Given the description of an element on the screen output the (x, y) to click on. 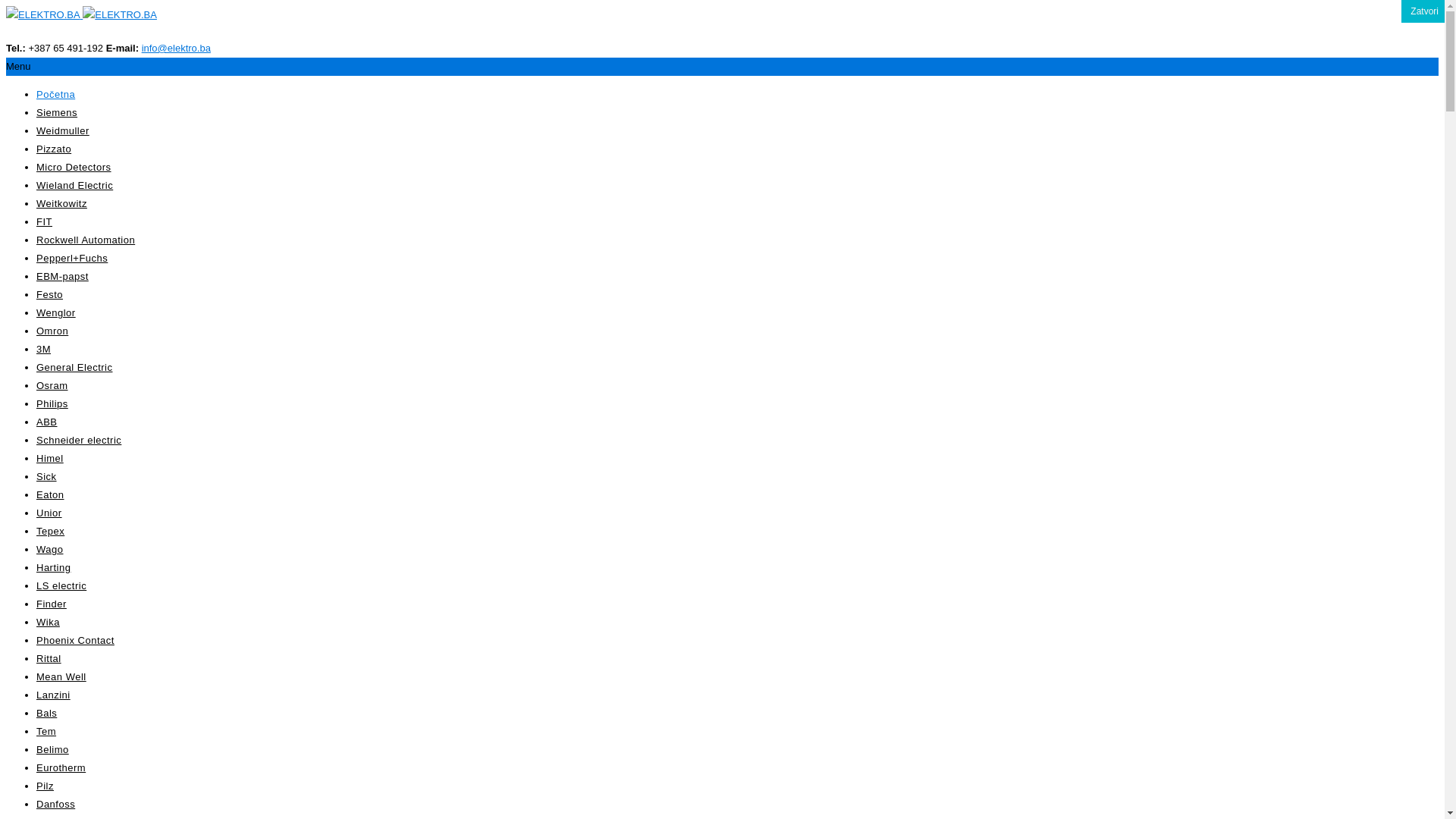
Belimo Element type: text (52, 749)
info@elektro.ba Element type: text (175, 47)
Lanzini Element type: text (53, 694)
Wieland Electric Element type: text (74, 185)
Omron Element type: text (52, 330)
Festo Element type: text (49, 294)
Schneider electric Element type: text (78, 439)
Pepperl+Fuchs Element type: text (71, 257)
Himel Element type: text (49, 458)
Wika Element type: text (47, 621)
EBM-papst Element type: text (62, 276)
Eaton Element type: text (49, 494)
Tem Element type: text (46, 731)
Bals Element type: text (46, 712)
Zatvori Element type: text (1424, 11)
Mean Well Element type: text (61, 676)
ELEKTRO.BA Element type: hover (43, 15)
ELEKTRO.BA Element type: hover (81, 14)
Eurotherm Element type: text (60, 767)
ELEKTRO.BA Element type: hover (119, 15)
3M Element type: text (43, 348)
Wenglor Element type: text (55, 312)
Osram Element type: text (52, 385)
ABB Element type: text (46, 421)
Pizzato Element type: text (53, 148)
Danfoss Element type: text (55, 803)
Micro Detectors Element type: text (73, 166)
Siemens Element type: text (56, 112)
Tepex Element type: text (50, 530)
Rockwell Automation Element type: text (85, 239)
Pilz Element type: text (44, 785)
General Electric Element type: text (74, 367)
LS electric Element type: text (61, 585)
Phoenix Contact Element type: text (75, 640)
Finder Element type: text (51, 603)
Weidmuller Element type: text (62, 130)
Wago Element type: text (49, 549)
FIT Element type: text (44, 221)
Rittal Element type: text (48, 658)
Sick Element type: text (46, 476)
CLOSE Element type: text (1422, 11)
Philips Element type: text (52, 403)
Weitkowitz Element type: text (61, 203)
Harting Element type: text (53, 567)
Unior Element type: text (49, 512)
